Given the description of an element on the screen output the (x, y) to click on. 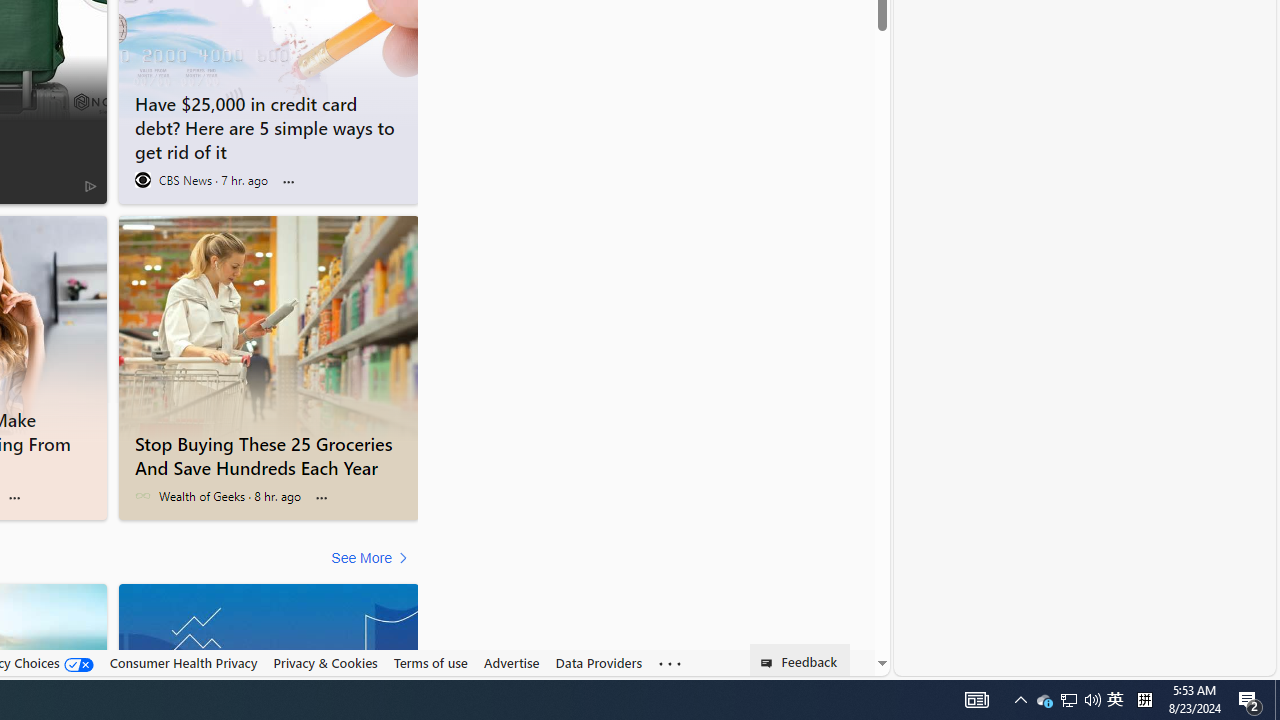
See More (372, 557)
Wealth of Geeks (142, 495)
Data Providers (598, 662)
CBS News (142, 179)
Class: feedback_link_icon-DS-EntryPoint1-1 (770, 663)
